Given the description of an element on the screen output the (x, y) to click on. 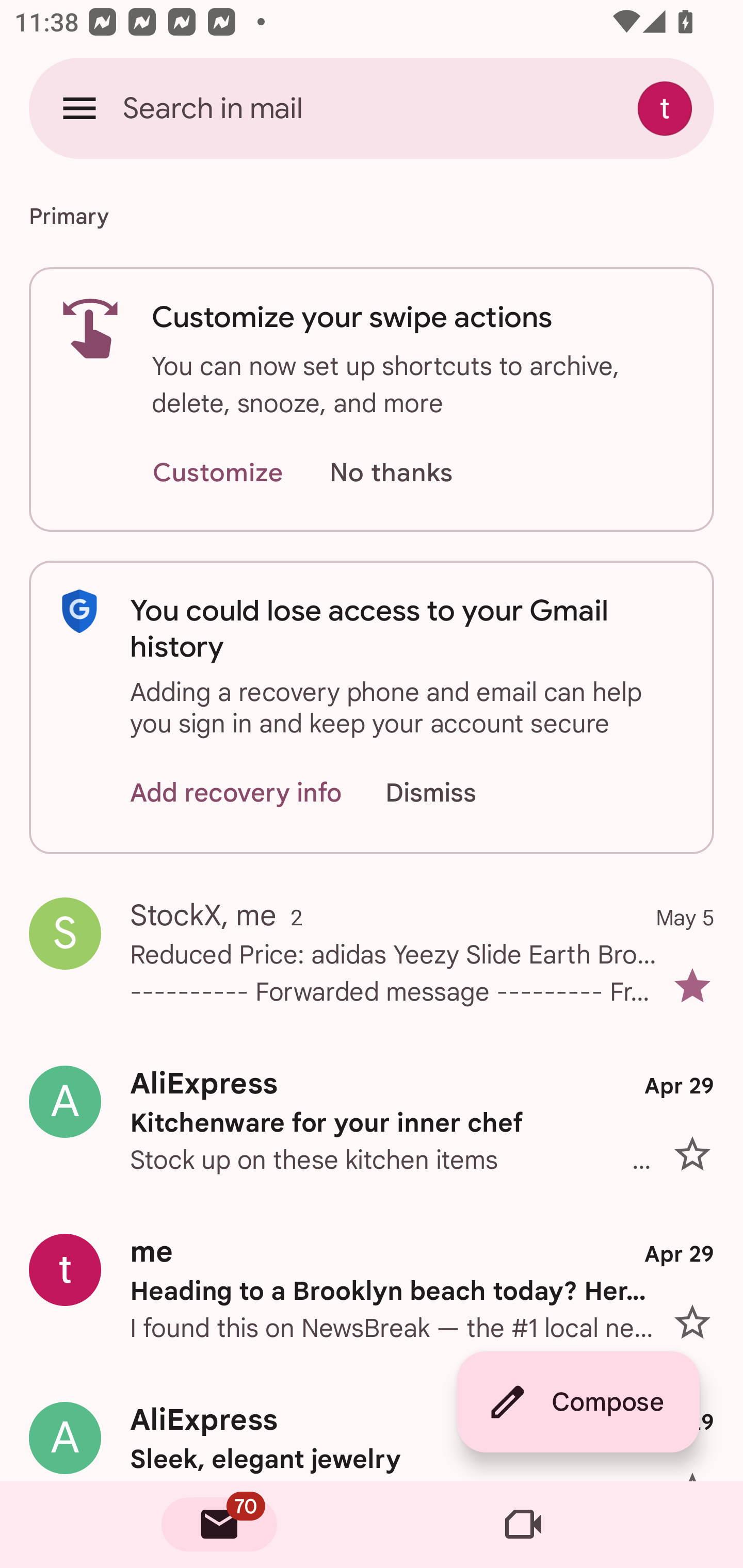
Open navigation drawer (79, 108)
Customize (217, 473)
No thanks (390, 473)
Add recovery info (235, 792)
Dismiss (449, 792)
Compose (577, 1401)
Meet (523, 1524)
